Given the description of an element on the screen output the (x, y) to click on. 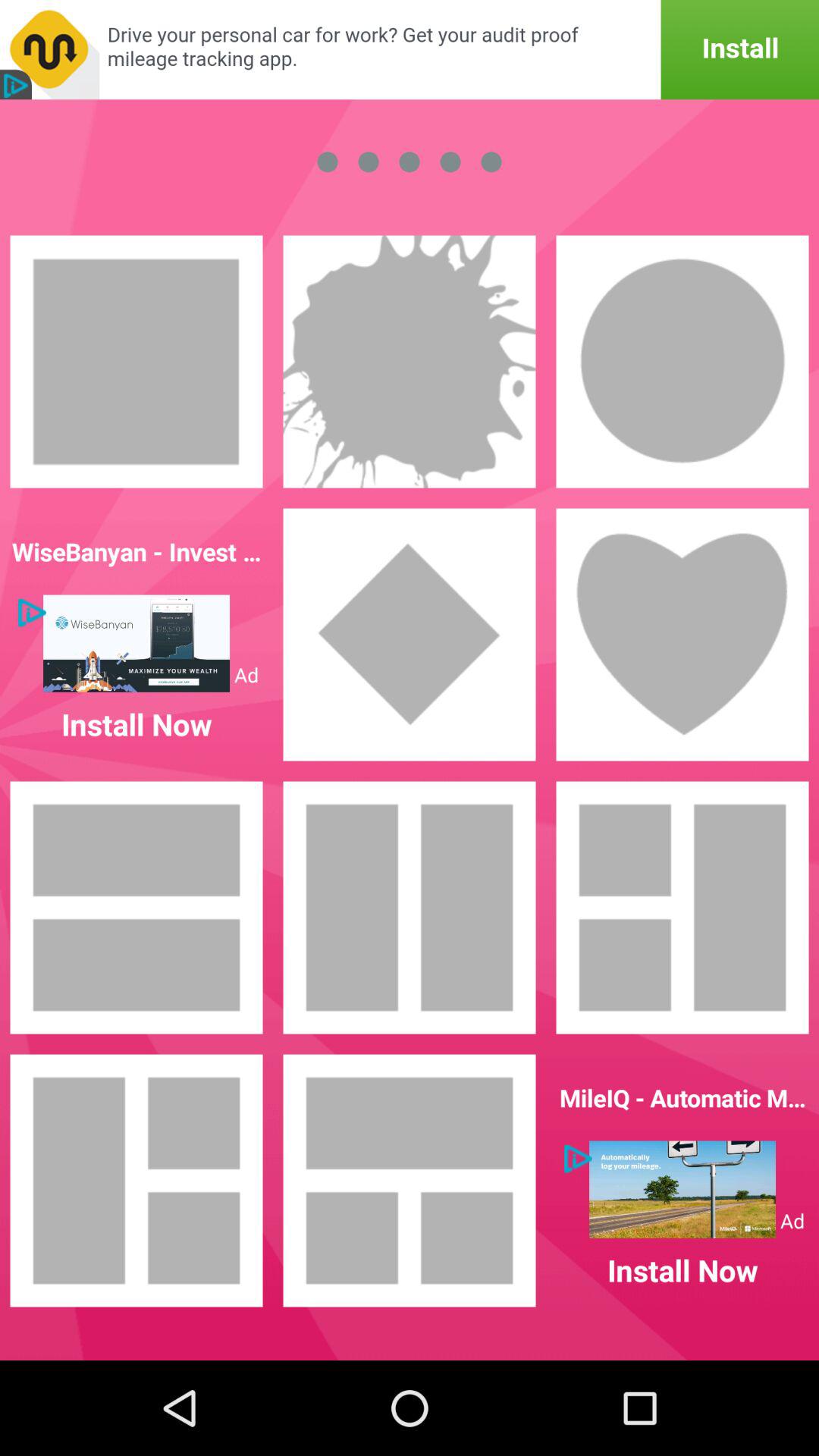
choose this layout (682, 907)
